Given the description of an element on the screen output the (x, y) to click on. 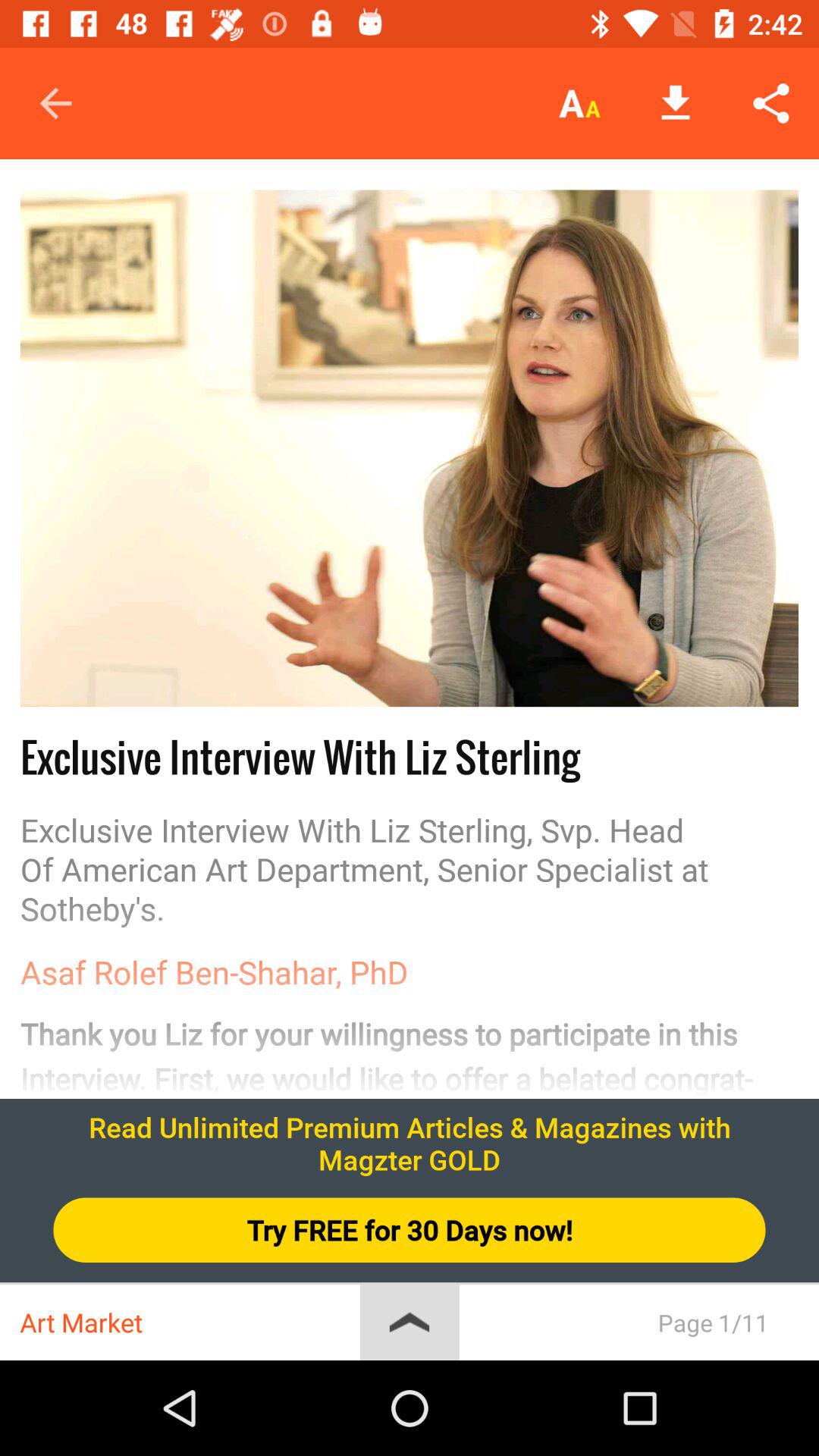
select the icon above exclusive interview with (409, 447)
